Given the description of an element on the screen output the (x, y) to click on. 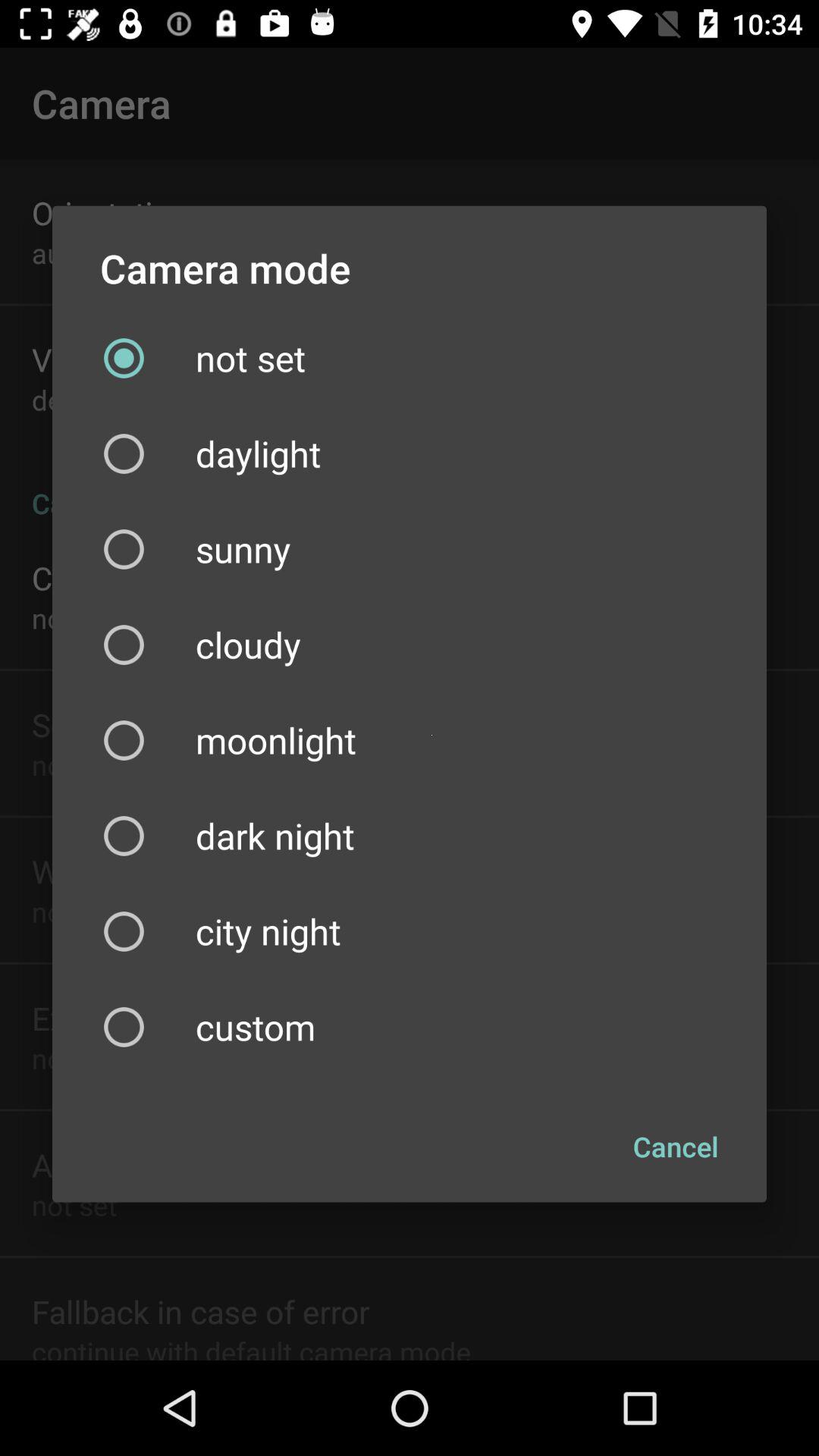
turn off icon at the bottom right corner (675, 1146)
